Given the description of an element on the screen output the (x, y) to click on. 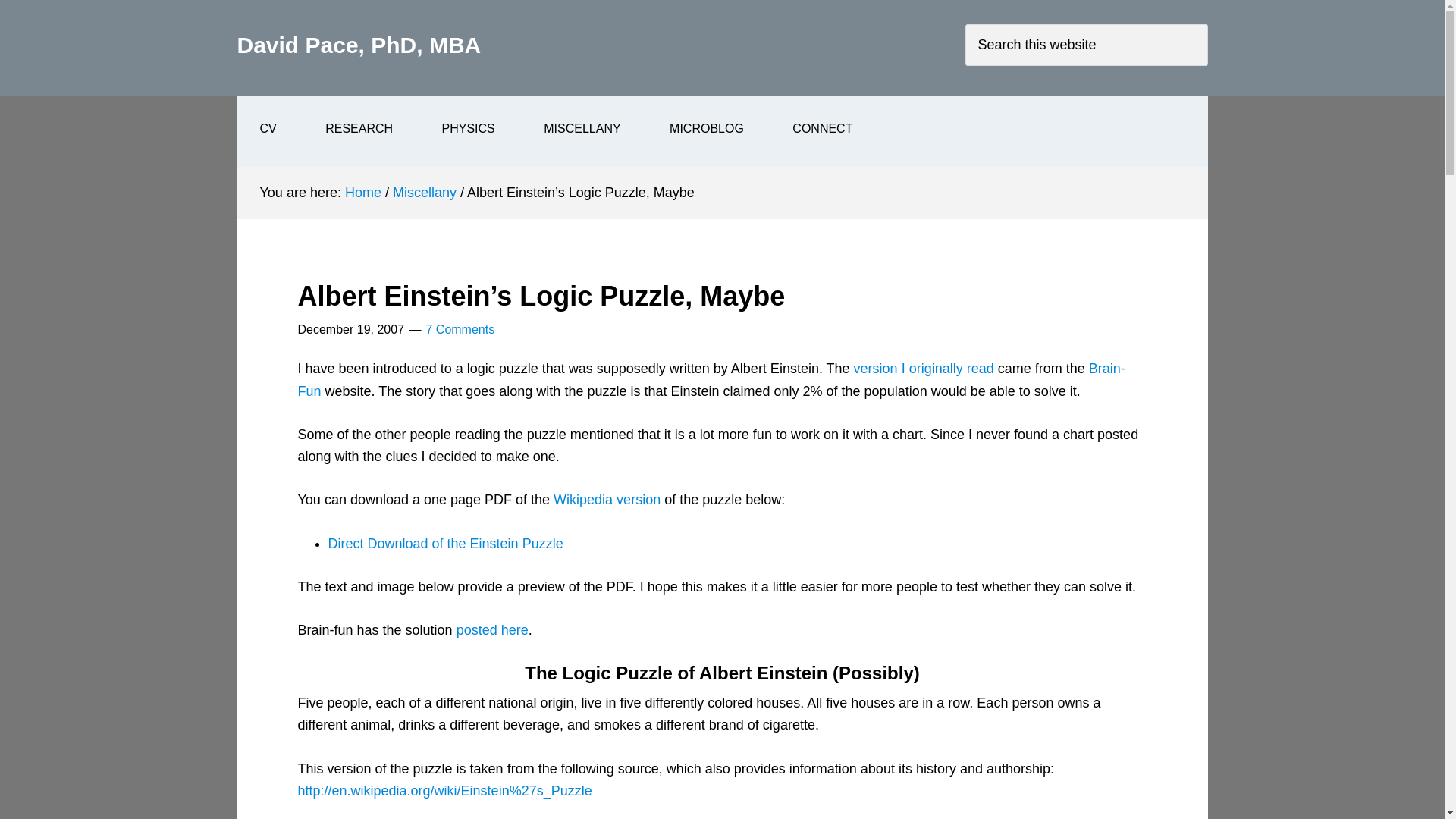
Wikipedia version (607, 499)
PHYSICS (468, 128)
RESEARCH (358, 128)
version I originally read (923, 368)
posted here (492, 630)
7 Comments (460, 328)
MISCELLANY (582, 128)
Miscellany (425, 192)
